Given the description of an element on the screen output the (x, y) to click on. 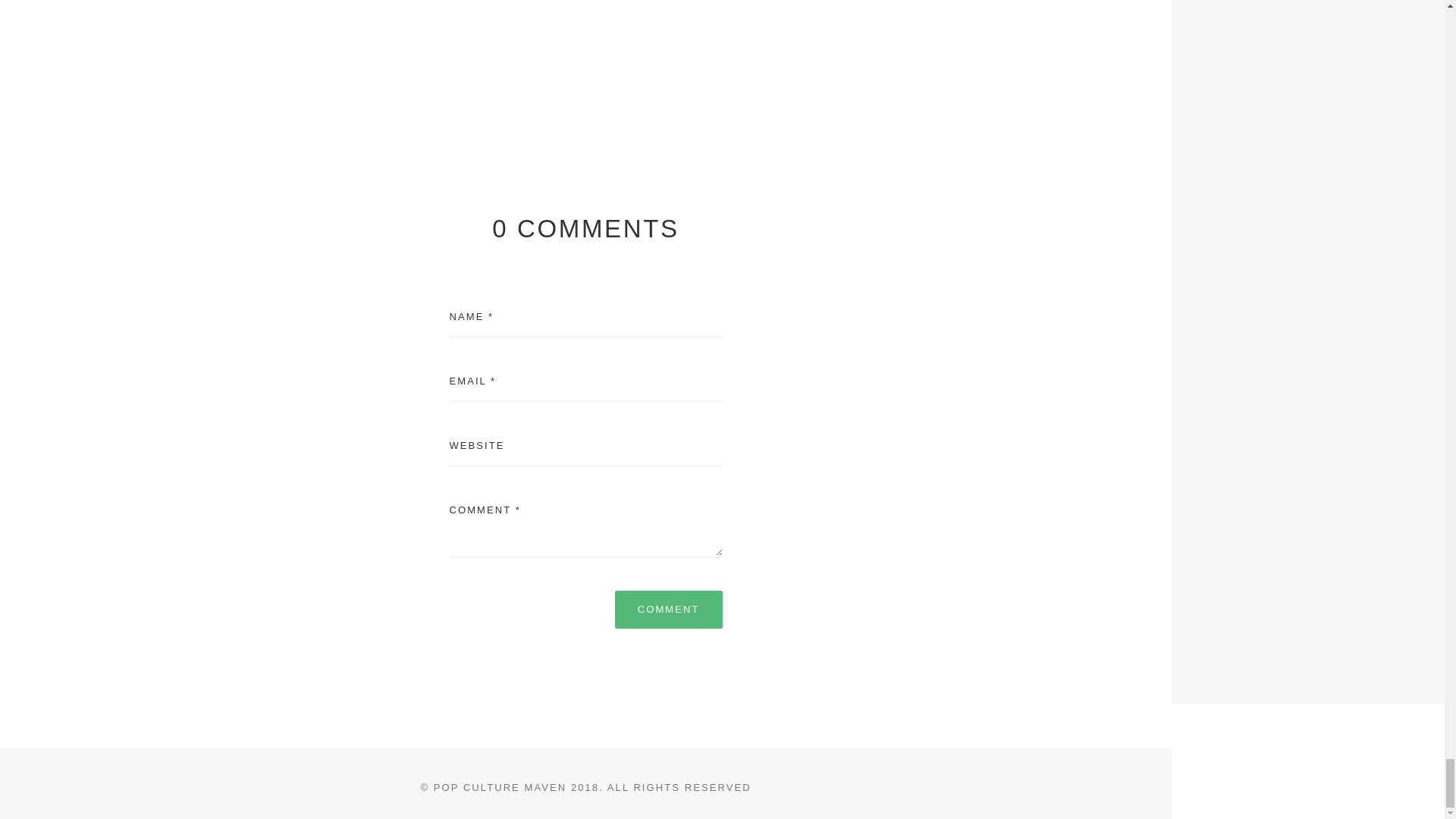
Kickstarter Watch: A Vampire In Hollywood (293, 80)
Long Beach Comic Expo 2016 (878, 80)
Comment (668, 609)
